Given the description of an element on the screen output the (x, y) to click on. 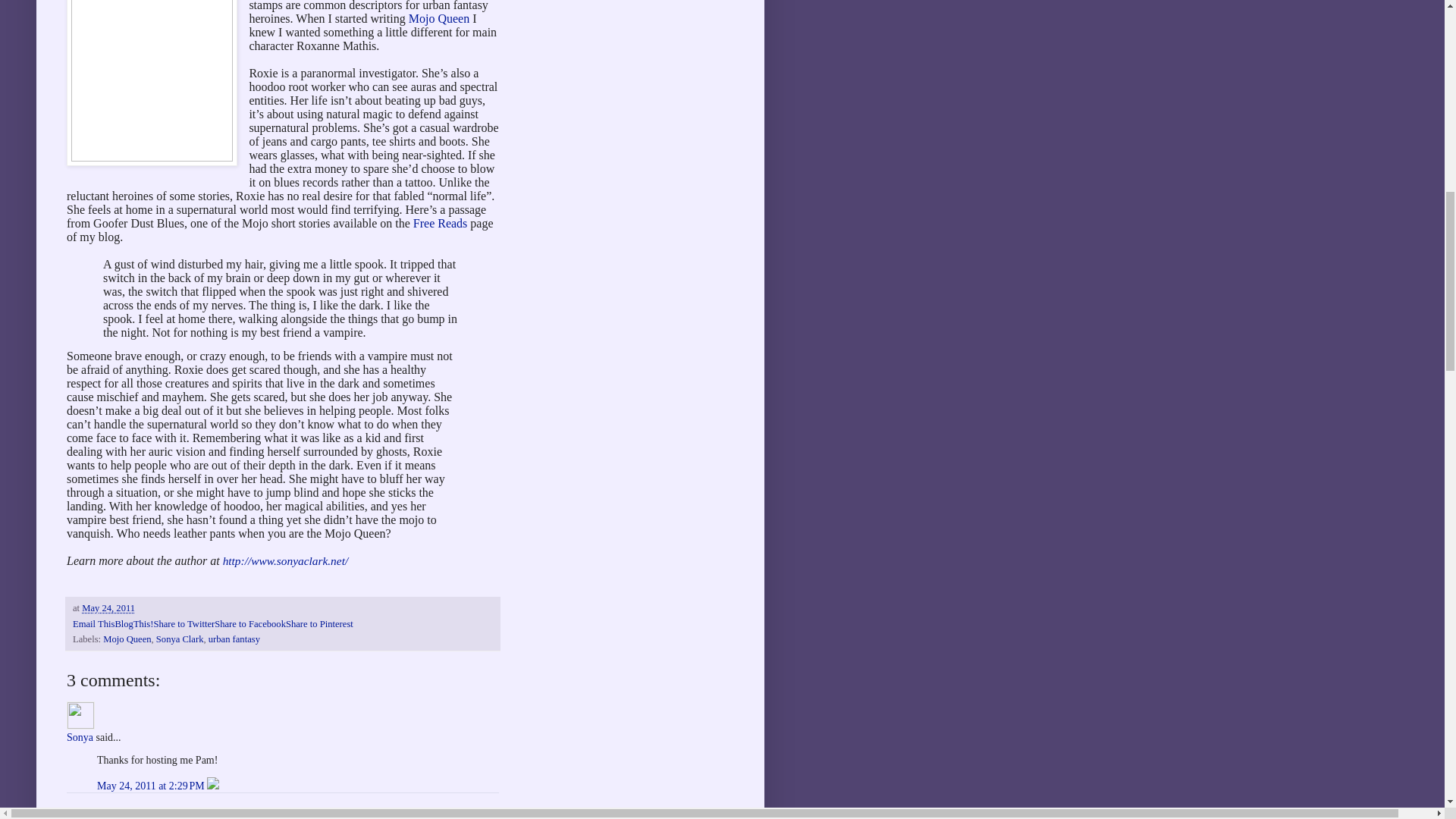
BlogThis! (133, 624)
Delete Comment (212, 785)
Sonya Clark (179, 638)
Email This (93, 624)
comment permalink (151, 785)
Share to Pinterest (319, 624)
urban fantasy (234, 638)
Sonya (80, 715)
Share to Twitter (183, 624)
Share to Facebook (249, 624)
permanent link (108, 607)
Share to Facebook (249, 624)
PamelaTurner (96, 815)
Email This (93, 624)
